Given the description of an element on the screen output the (x, y) to click on. 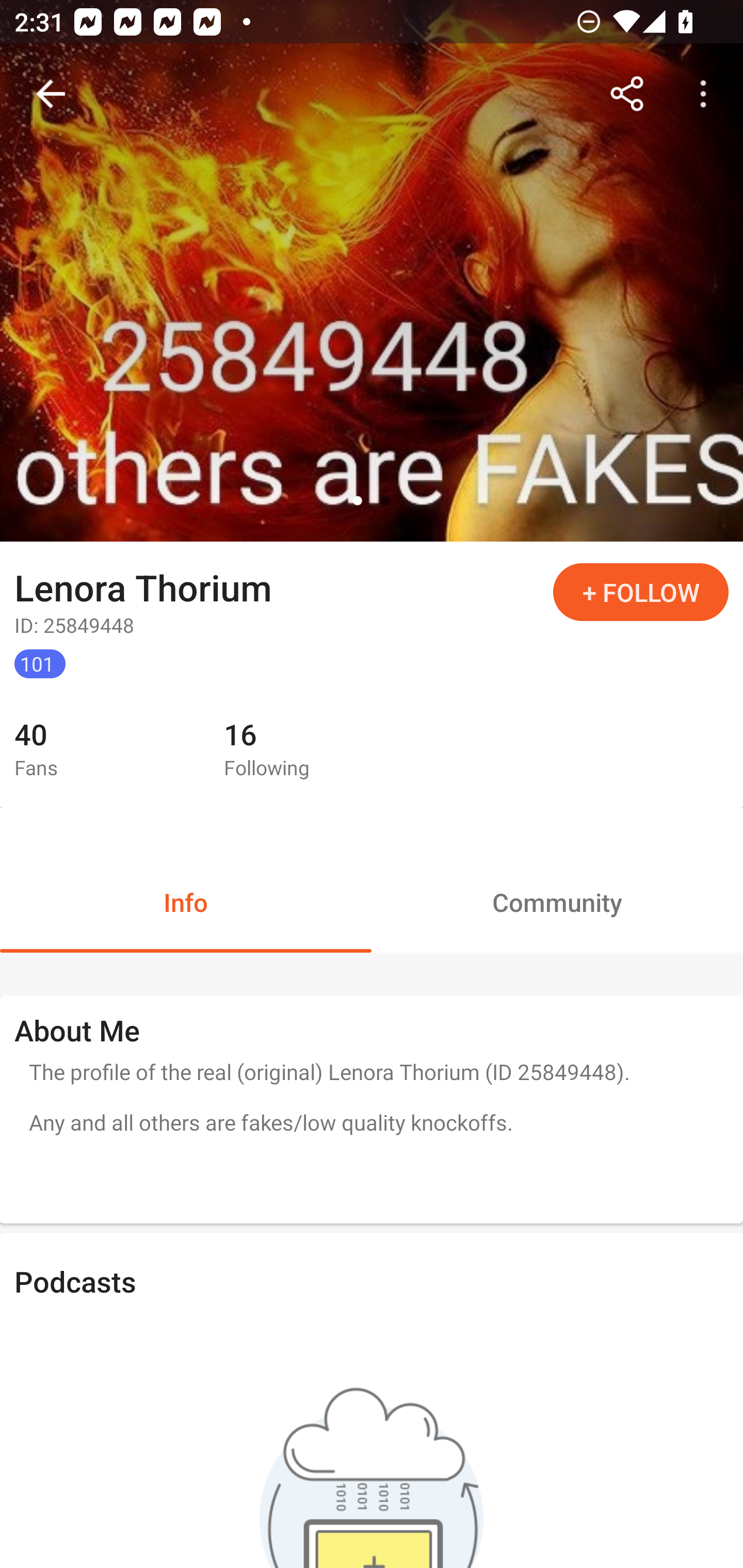
Navigate up (50, 93)
Share (626, 93)
More options (706, 93)
+ FOLLOW (640, 591)
40 Fans (104, 750)
16 Following (313, 750)
Info (185, 902)
Community (557, 902)
